Given the description of an element on the screen output the (x, y) to click on. 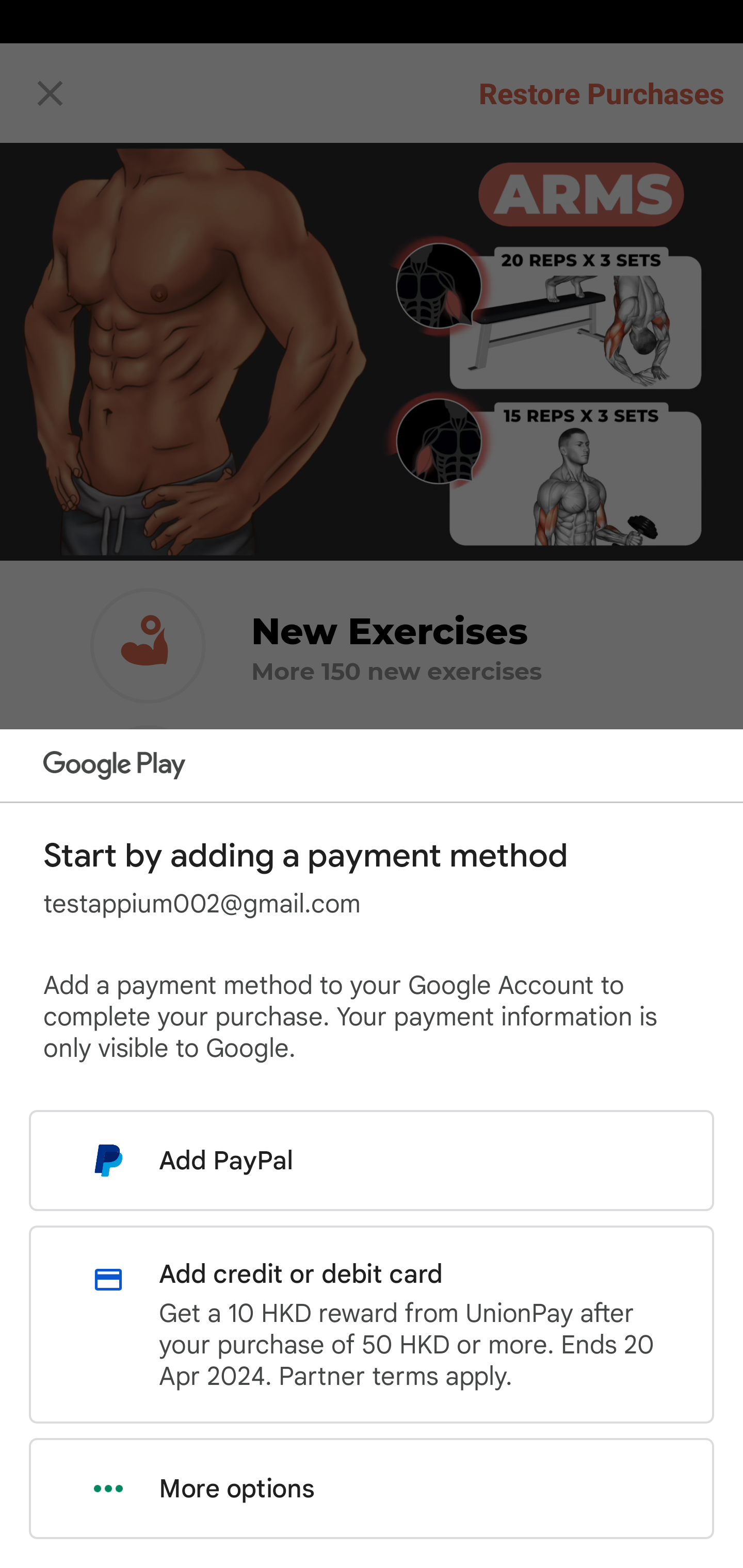
Add PayPal (371, 1160)
More options (371, 1488)
